Given the description of an element on the screen output the (x, y) to click on. 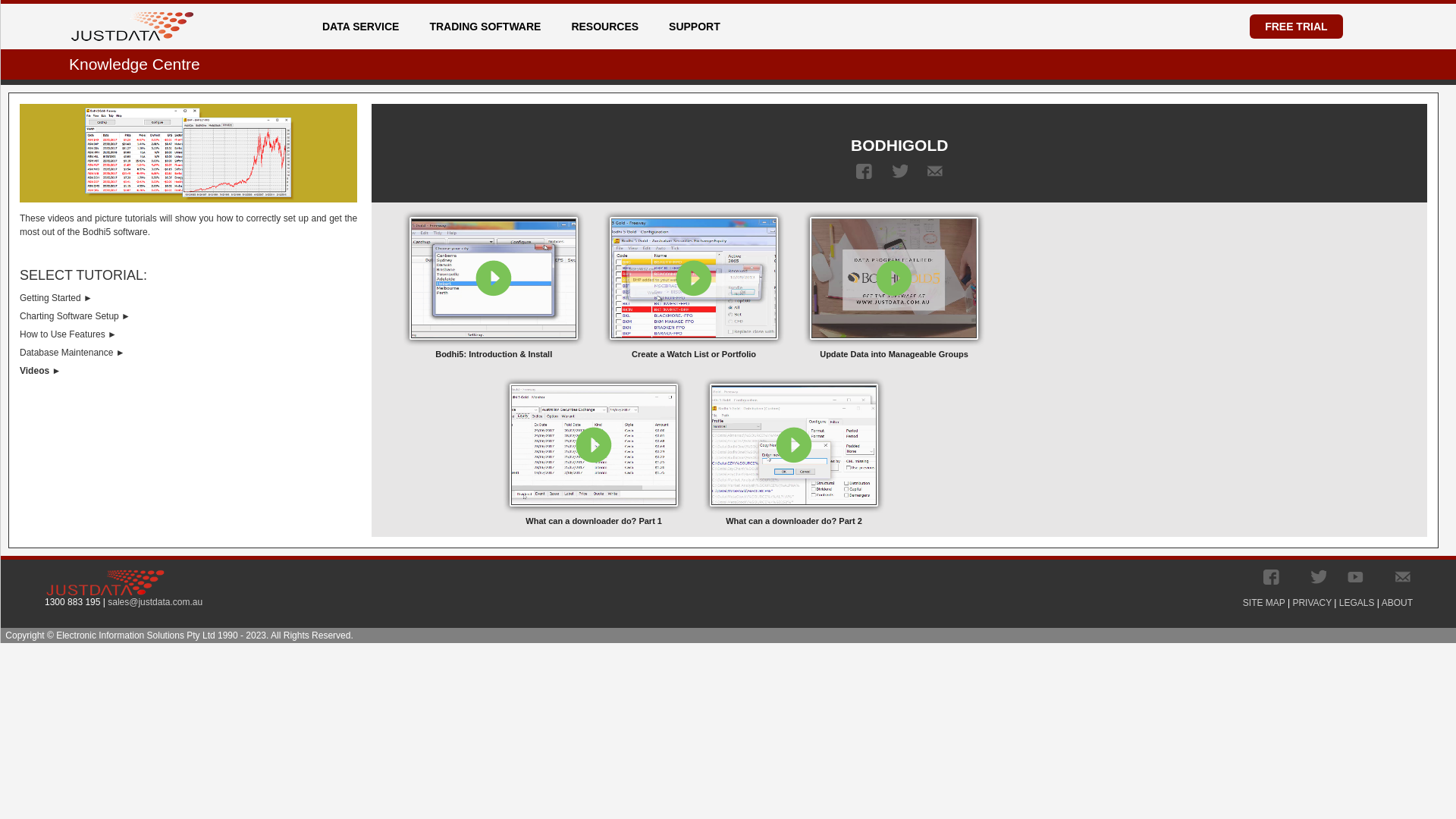
JustData's YouTube Channel Element type: hover (1355, 576)
LEGALS Element type: text (1356, 602)
  Element type: text (1402, 576)
  Element type: text (899, 170)
What can a downloader do? Part 1 Element type: text (593, 452)
TRADING SOFTWARE Element type: text (489, 26)
Email JustData Element type: hover (1402, 576)
  Element type: text (1271, 576)
Knowledge Centre Element type: text (134, 63)
  Element type: text (1318, 576)
JustData's Tweets Element type: hover (1318, 576)
  Element type: text (864, 170)
ABOUT Element type: text (1396, 602)
JustData's Facebook Page Element type: hover (1271, 576)
PRIVACY Element type: text (1311, 602)
Create a Watch List or Portfolio Element type: text (693, 285)
SITE MAP Element type: text (1263, 602)
SUPPORT Element type: text (699, 26)
Home Page Element type: hover (132, 26)
Electronic Information Solutions Pty Ltd trading as JustData Element type: hover (105, 581)
Update Data into Manageable Groups Element type: text (894, 285)
Bodhi5: Introduction & Install Element type: text (493, 285)
RESOURCES Element type: text (609, 26)
sales@justdata.com.au Element type: text (154, 601)
Home Page Element type: hover (132, 19)
DATA SERVICE Element type: text (365, 26)
FREE TRIAL Element type: text (1295, 26)
What can a downloader do? Part 2 Element type: text (793, 452)
  Element type: text (934, 170)
  Element type: text (1355, 576)
